Given the description of an element on the screen output the (x, y) to click on. 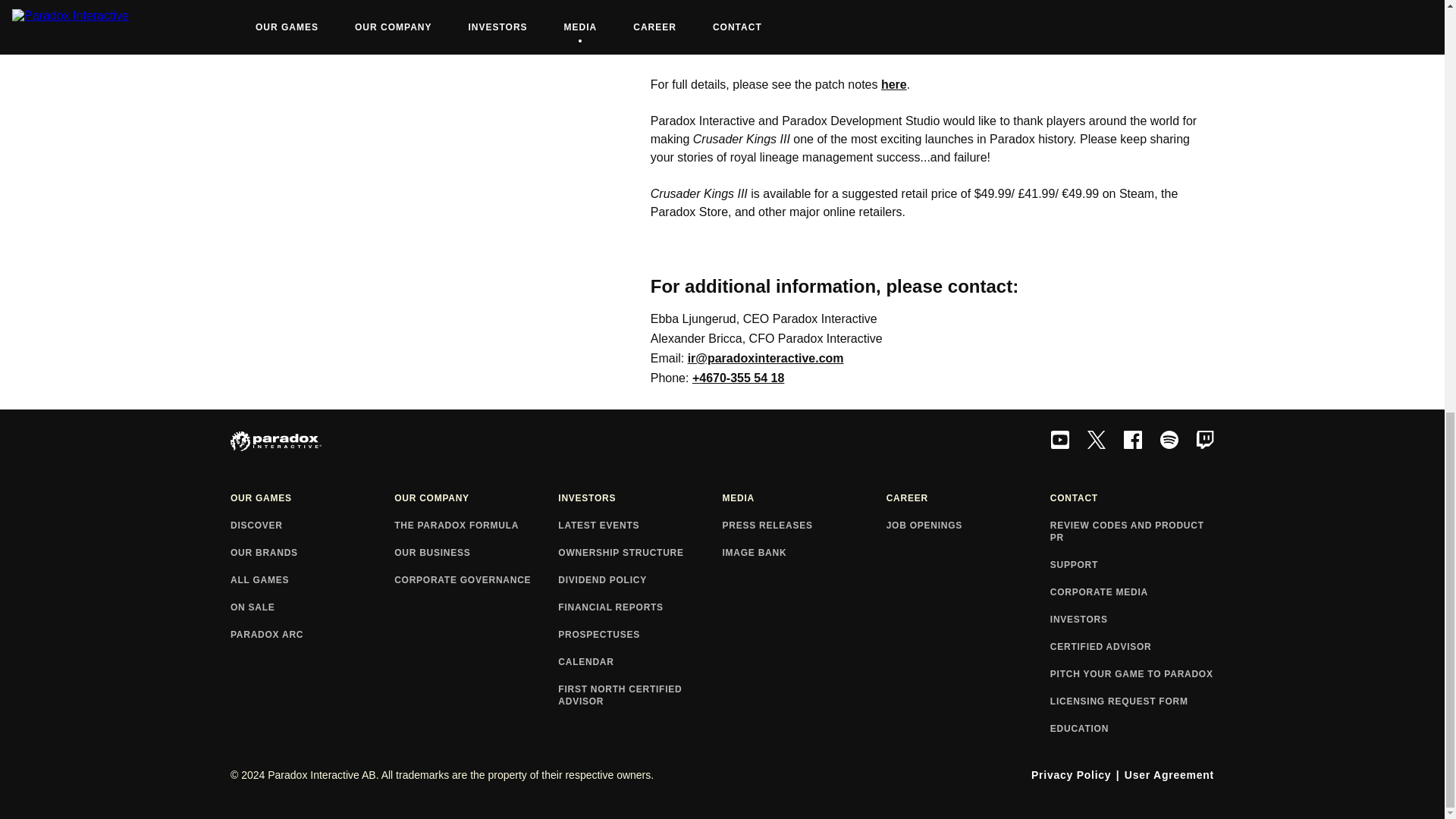
DISCOVER (312, 525)
Paradox on Youtube (1060, 441)
DIVIDEND POLICY (639, 580)
THE PARADOX FORMULA (475, 525)
LATEST EVENTS (639, 525)
CORPORATE GOVERNANCE (475, 580)
PROSPECTUSES (639, 635)
OUR BUSINESS (475, 553)
Paradox on Spotify (1169, 441)
PARADOX ARC (312, 635)
CALENDAR (639, 662)
INVESTORS (639, 498)
Paradox on Facebook (1133, 441)
FINANCIAL REPORTS (639, 607)
OUR BRANDS (312, 553)
